Given the description of an element on the screen output the (x, y) to click on. 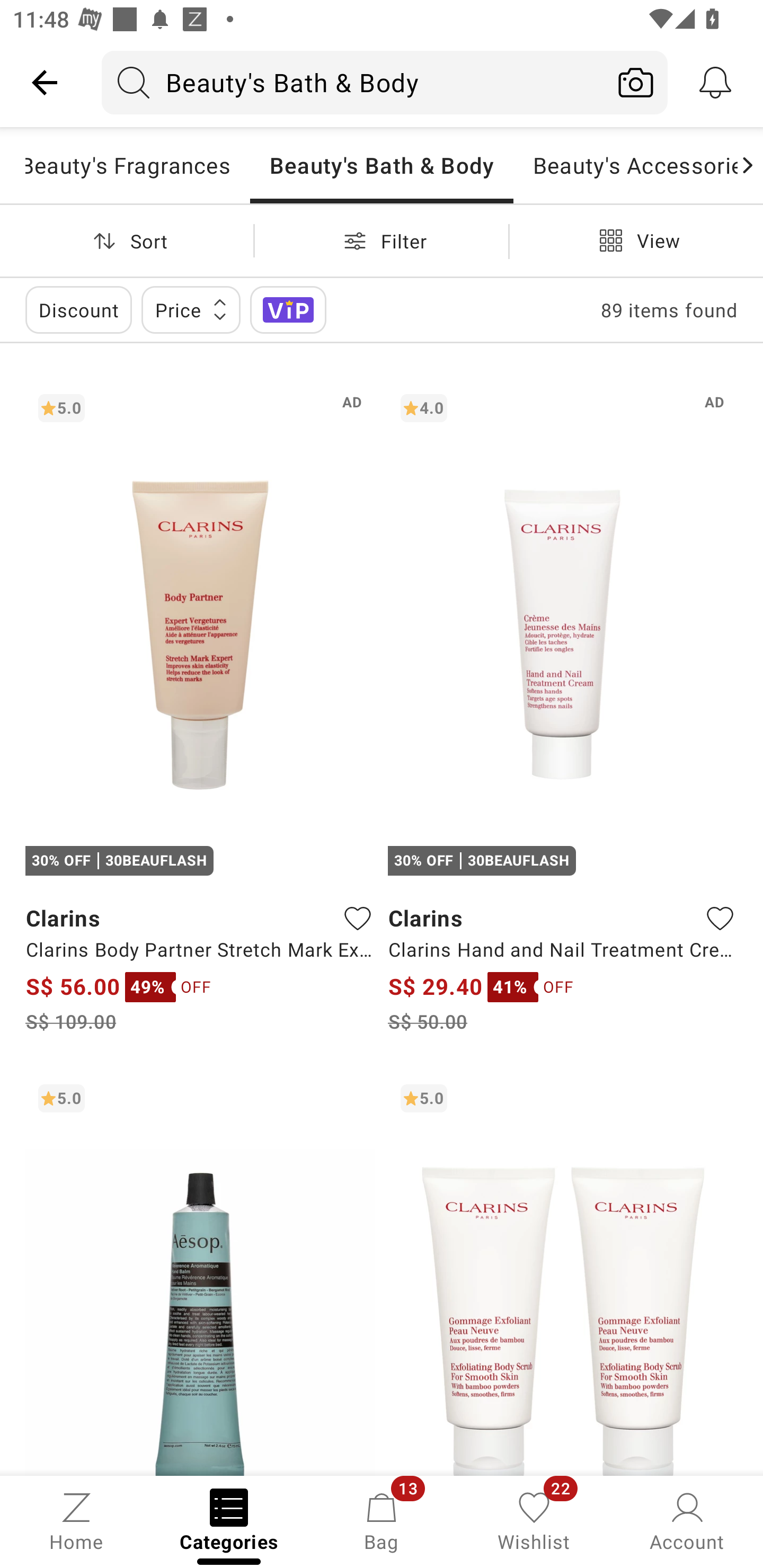
Navigate up (44, 82)
Beauty's Bath & Body (352, 82)
Beauty's Fragrances (137, 165)
Beauty's Accessories (625, 165)
Sort (126, 240)
Filter (381, 240)
View (636, 240)
Discount (78, 309)
Price (190, 309)
5.0 (200, 1272)
5.0 (562, 1272)
Home (76, 1519)
Bag, 13 new notifications Bag (381, 1519)
Wishlist, 22 new notifications Wishlist (533, 1519)
Account (686, 1519)
